Given the description of an element on the screen output the (x, y) to click on. 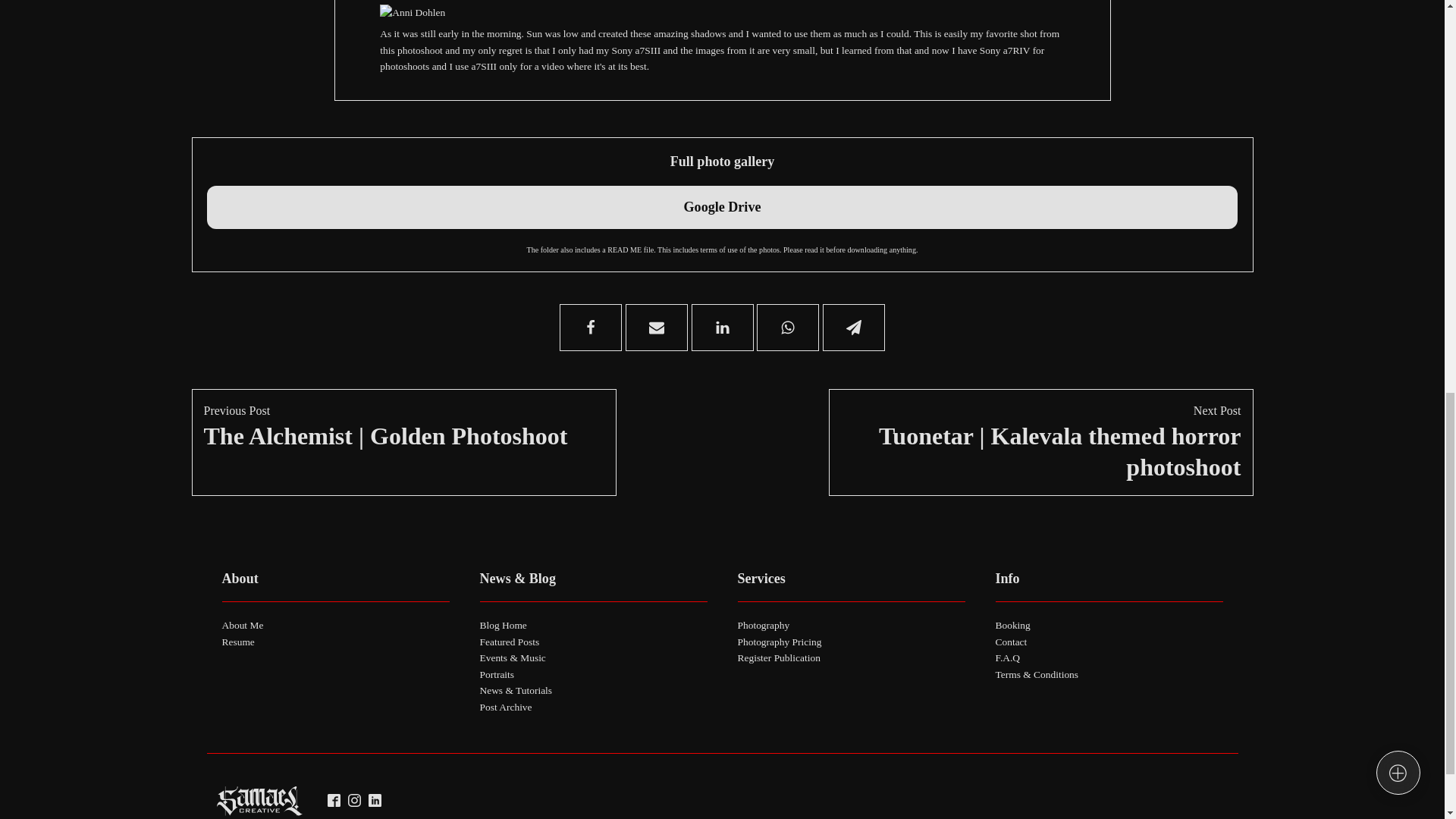
Google Drive (721, 207)
